Given the description of an element on the screen output the (x, y) to click on. 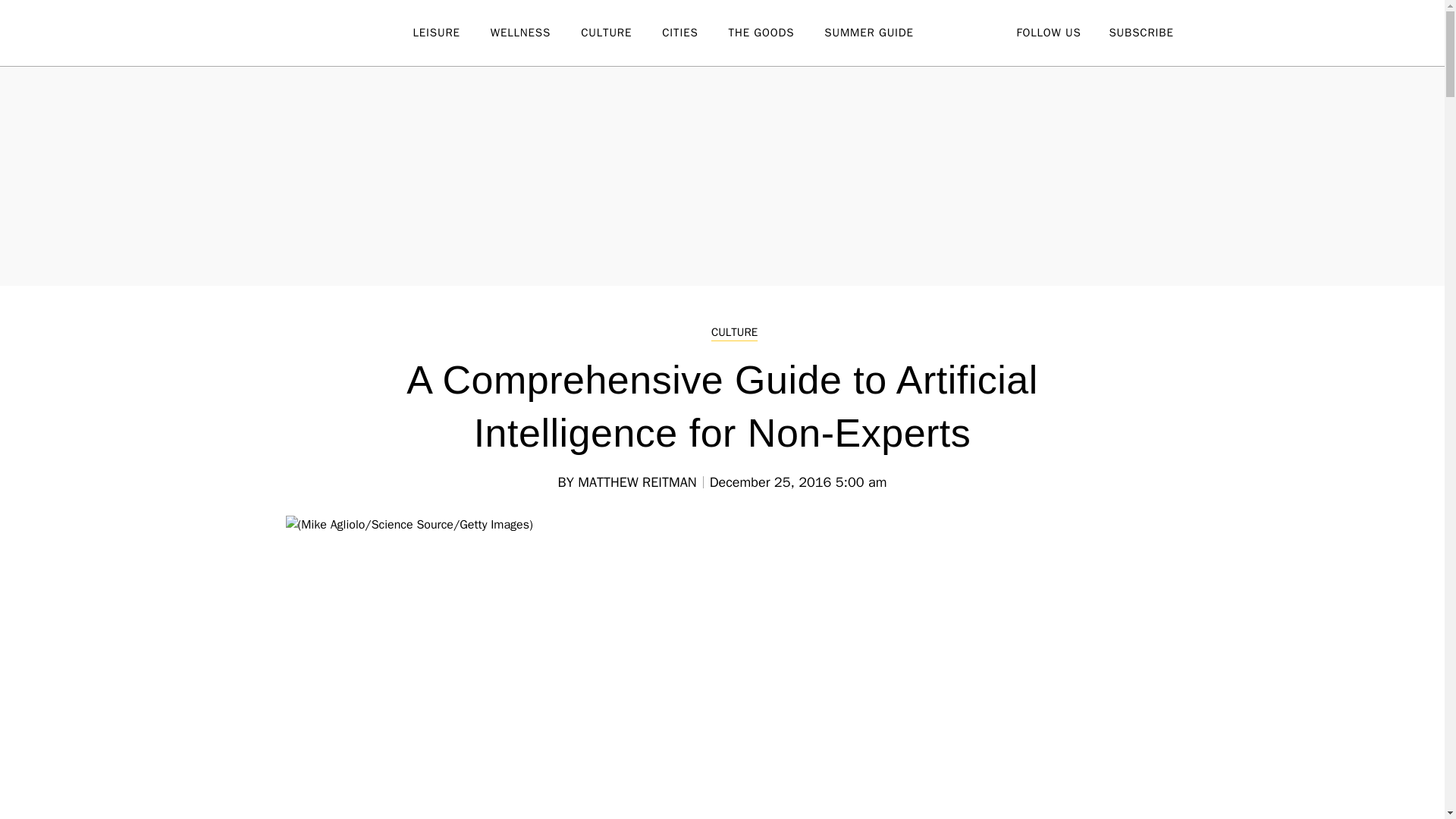
SUBSCRIBE (1140, 32)
SUMMER GUIDE (883, 32)
WELLNESS (535, 32)
THE GOODS (777, 32)
LEISURE (450, 32)
CITIES (695, 32)
FOLLOW US (1048, 32)
CULTURE (621, 32)
